Given the description of an element on the screen output the (x, y) to click on. 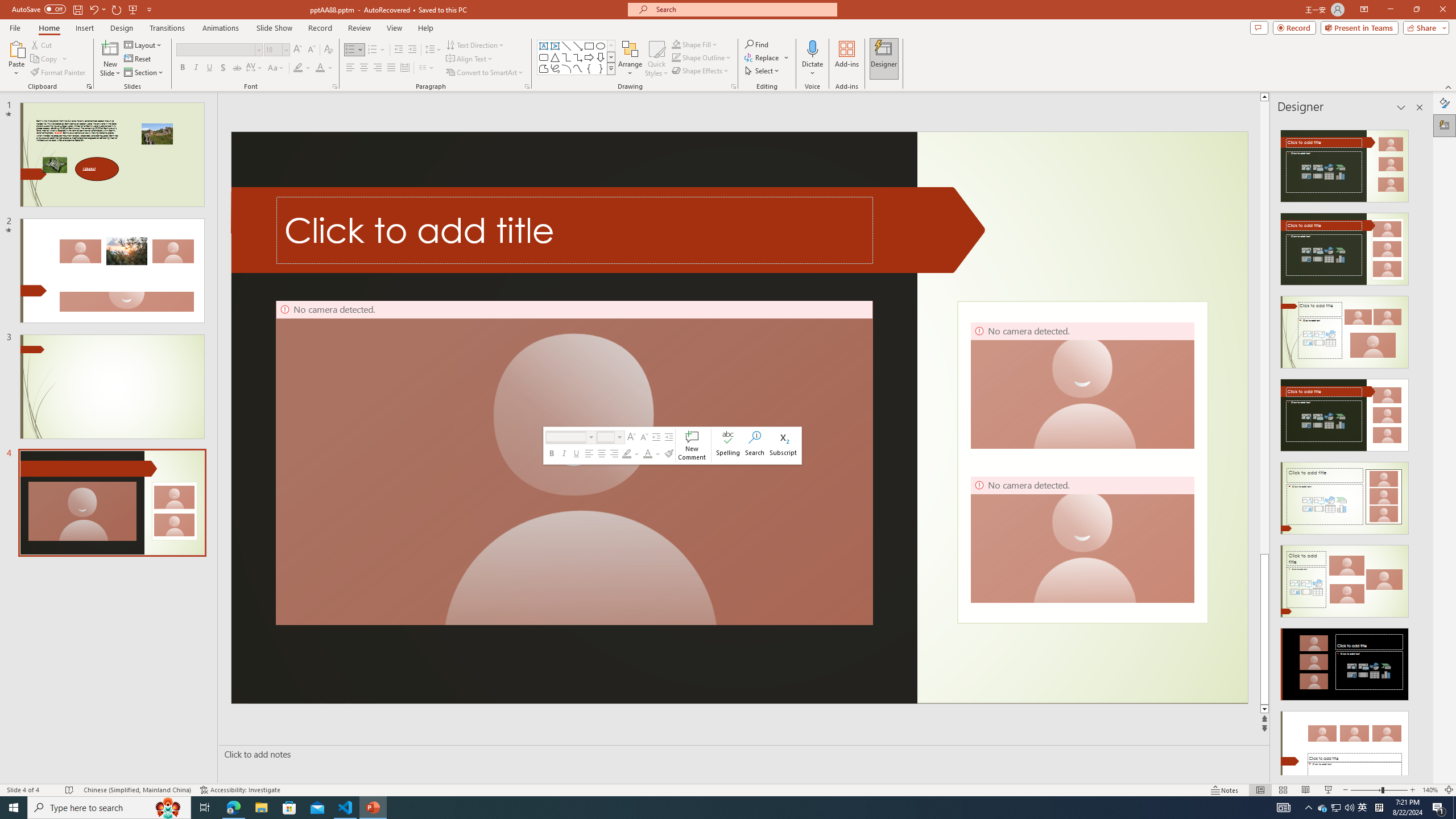
Replace... (767, 56)
Section (144, 72)
Shadow (223, 67)
Designer (883, 58)
Align Text (470, 58)
Columns (426, 67)
Format Painter (58, 72)
Text Highlight Color Yellow (297, 67)
Curve (577, 68)
Spell Check No Errors (69, 790)
Replace... (762, 56)
Shape Fill (694, 44)
AutomationID: ShapesInsertGallery (576, 57)
Text Highlight Color (626, 453)
Copy (49, 58)
